Given the description of an element on the screen output the (x, y) to click on. 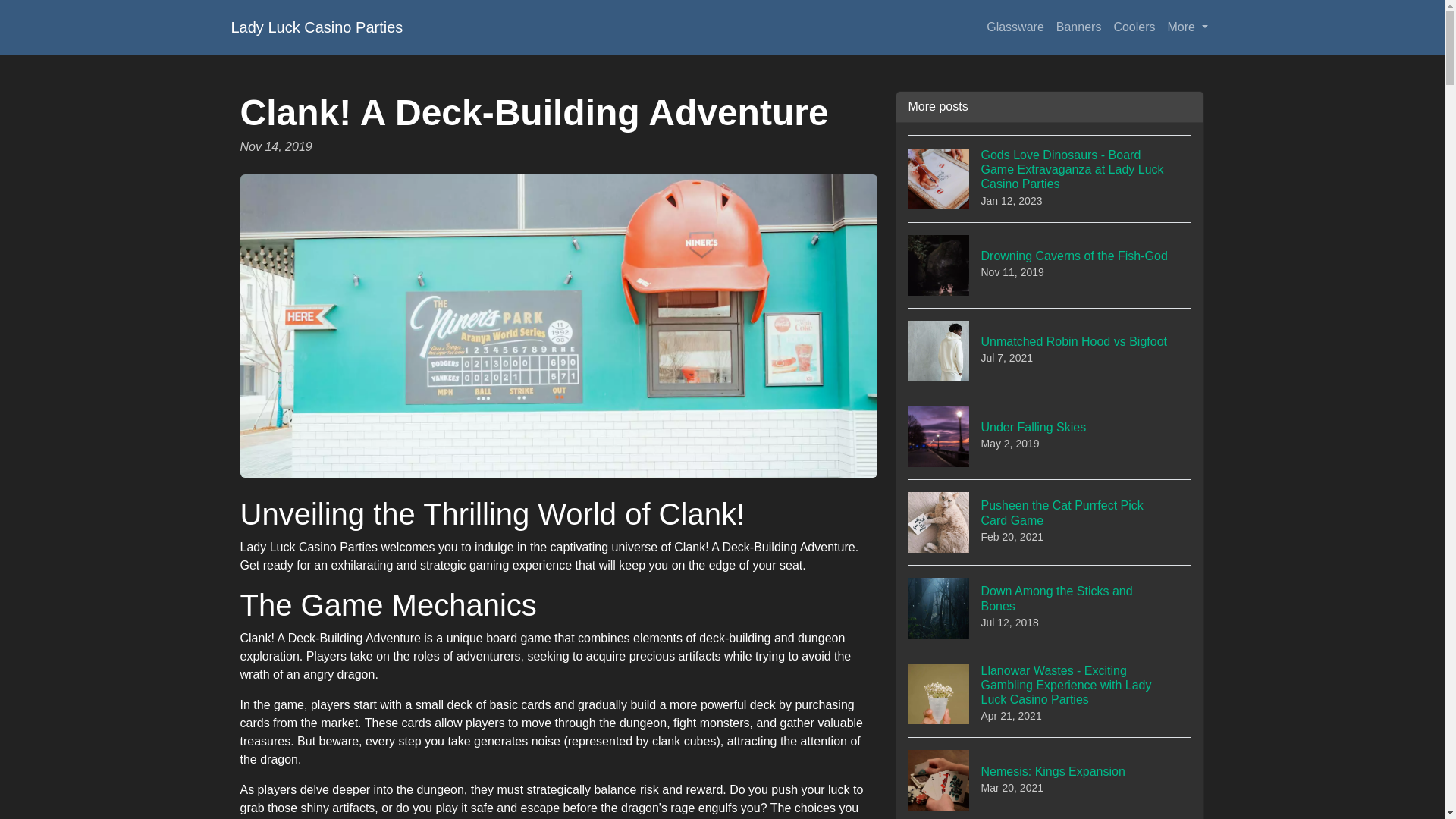
Banners (1050, 350)
More (1050, 522)
Lady Luck Casino Parties (1050, 607)
Glassware (1050, 436)
Coolers (1078, 27)
